Given the description of an element on the screen output the (x, y) to click on. 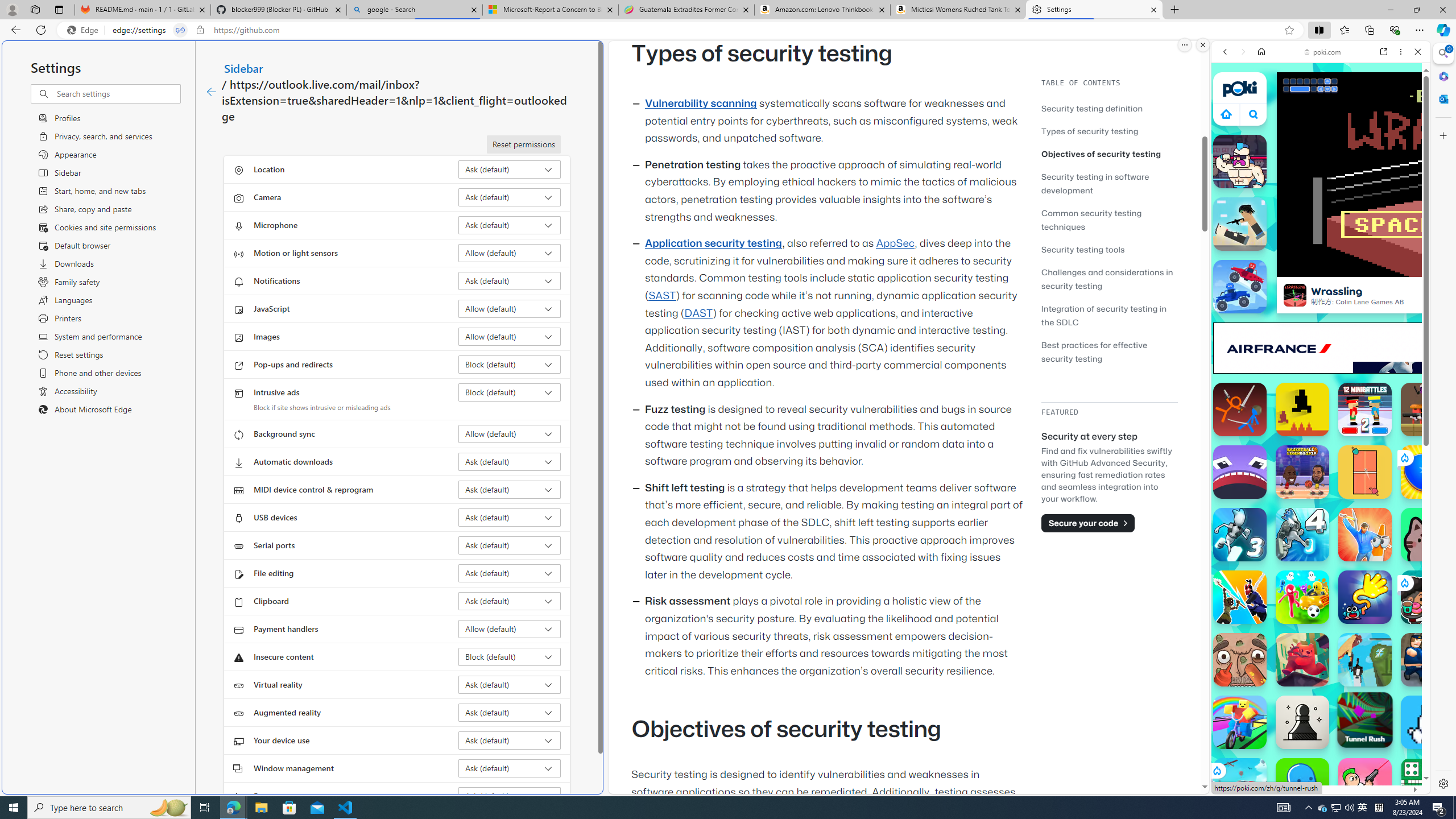
Security testing definition (1091, 108)
Rooftop Snipers (1239, 223)
poki.com (1322, 51)
Tunnel Rush Tunnel Rush (1364, 719)
Notifications Ask (default) (509, 280)
Tunnel Rush (1364, 719)
Last Warriors Last Warriors (1239, 597)
Camera Ask (default) (509, 197)
Classic Chess Classic Chess (1302, 722)
Kate's Cooking Party 2 (1427, 597)
Shady Bears (1302, 659)
Wrassling (1295, 295)
